Given the description of an element on the screen output the (x, y) to click on. 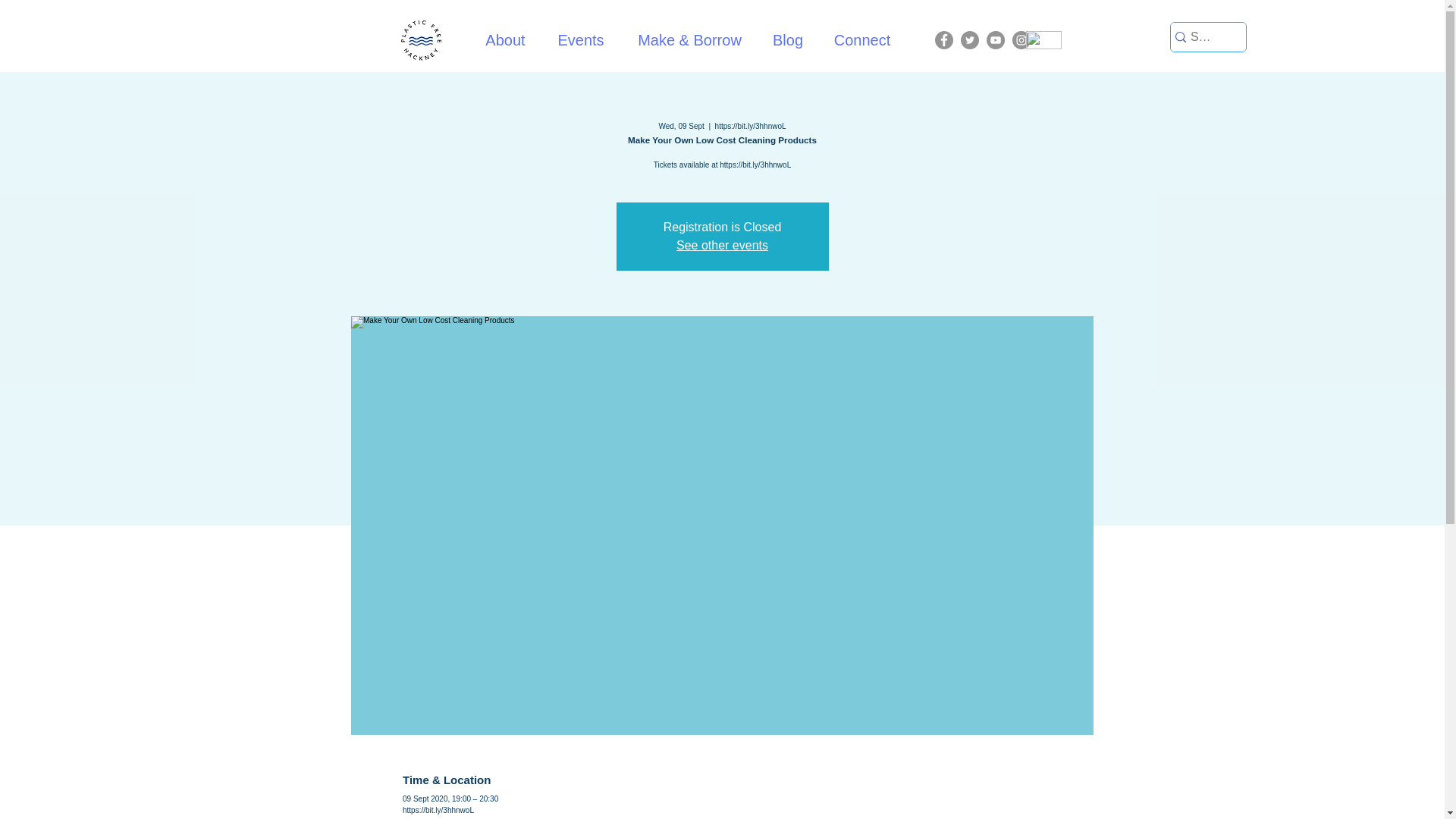
See other events (722, 245)
About (504, 40)
Events (579, 40)
Blog (787, 40)
Connect (862, 40)
